Given the description of an element on the screen output the (x, y) to click on. 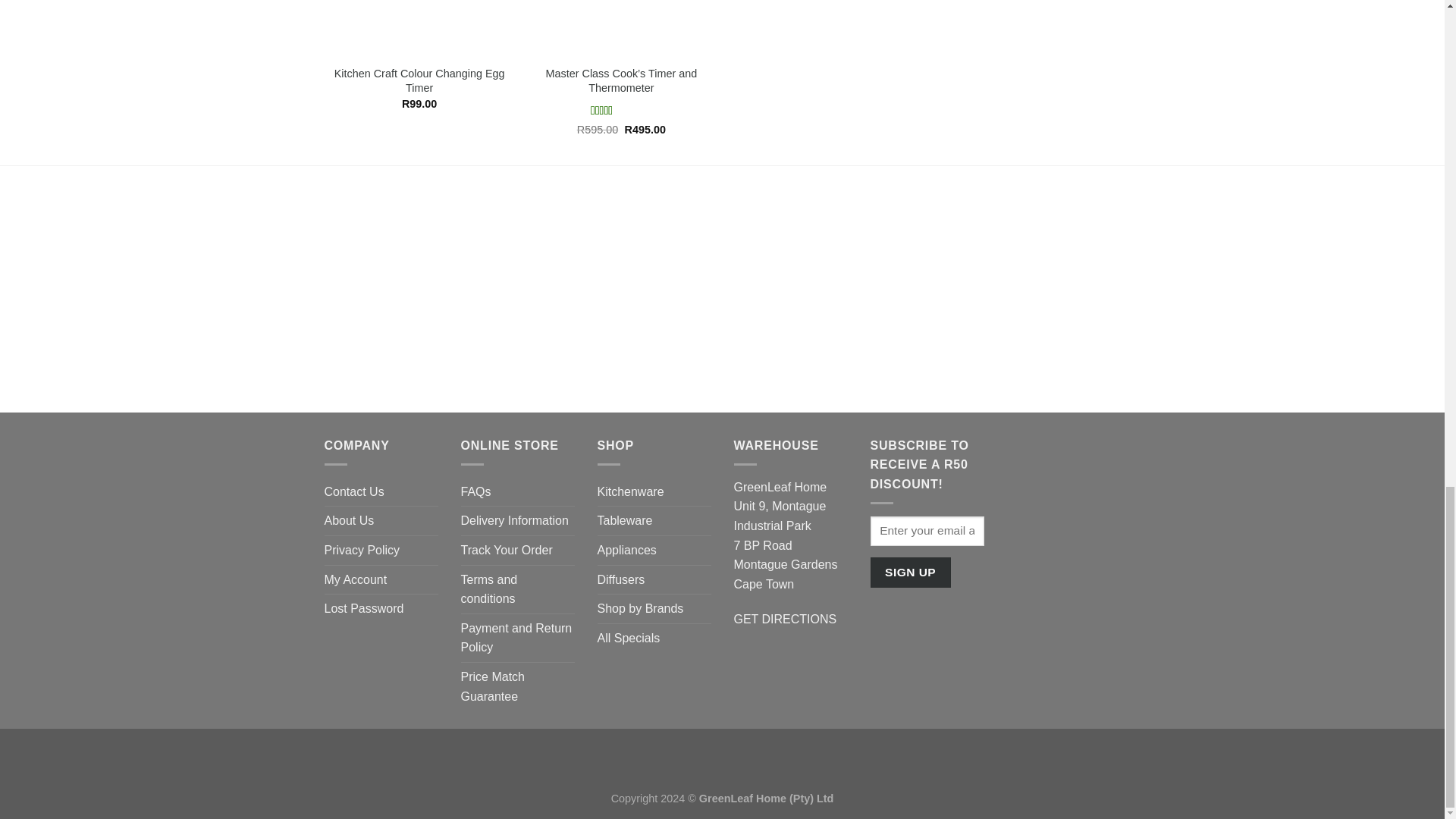
SIGN UP (910, 572)
